Given the description of an element on the screen output the (x, y) to click on. 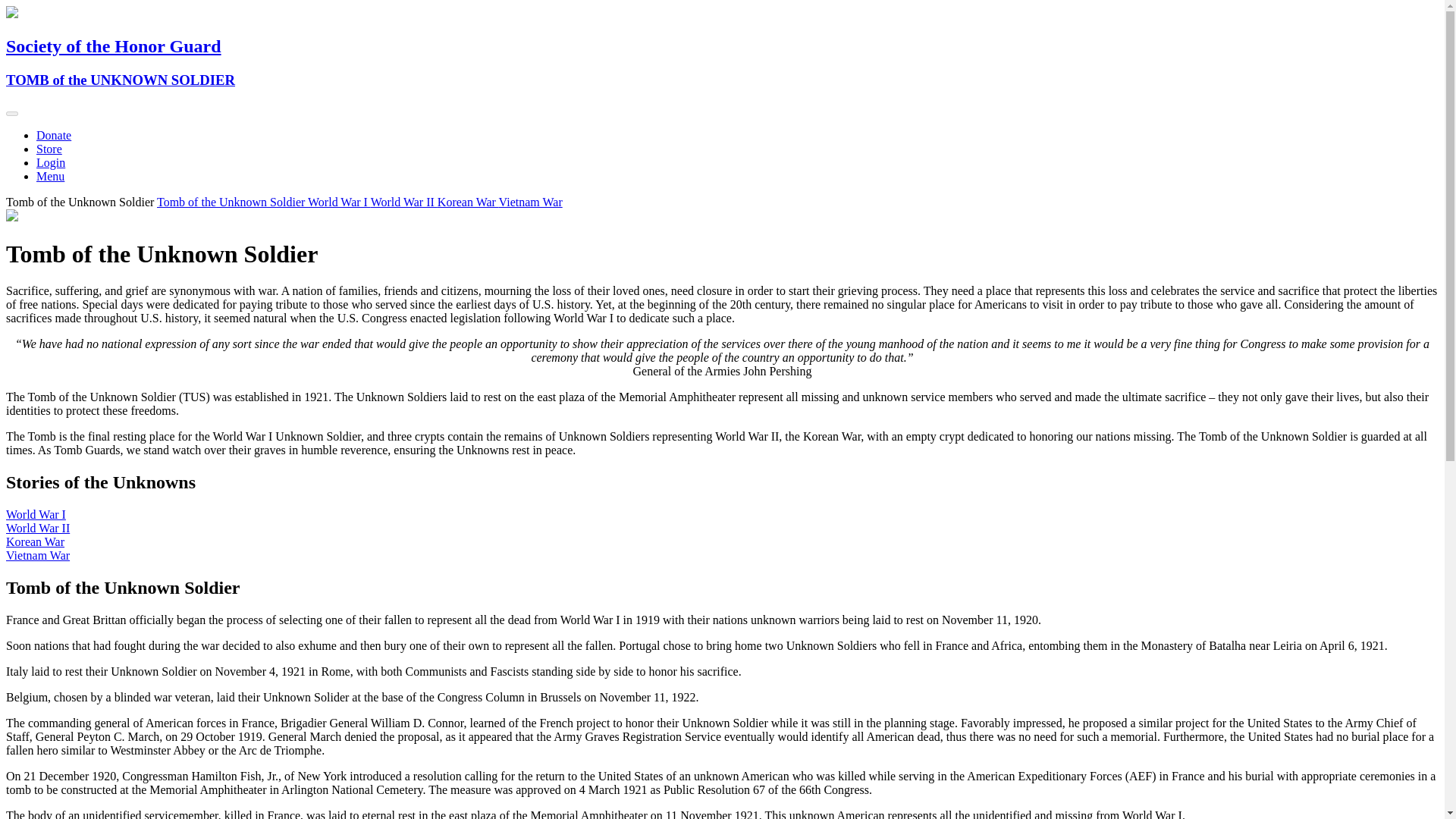
Korean War (34, 541)
World War I (339, 201)
Vietnam War (37, 554)
Donate (53, 134)
Tomb of the Unknown Soldier (232, 201)
Vietnam War (530, 201)
Tomb of the Unknown Soldier (81, 201)
Login (50, 162)
World War II (404, 201)
Korean War (468, 201)
